Given the description of an element on the screen output the (x, y) to click on. 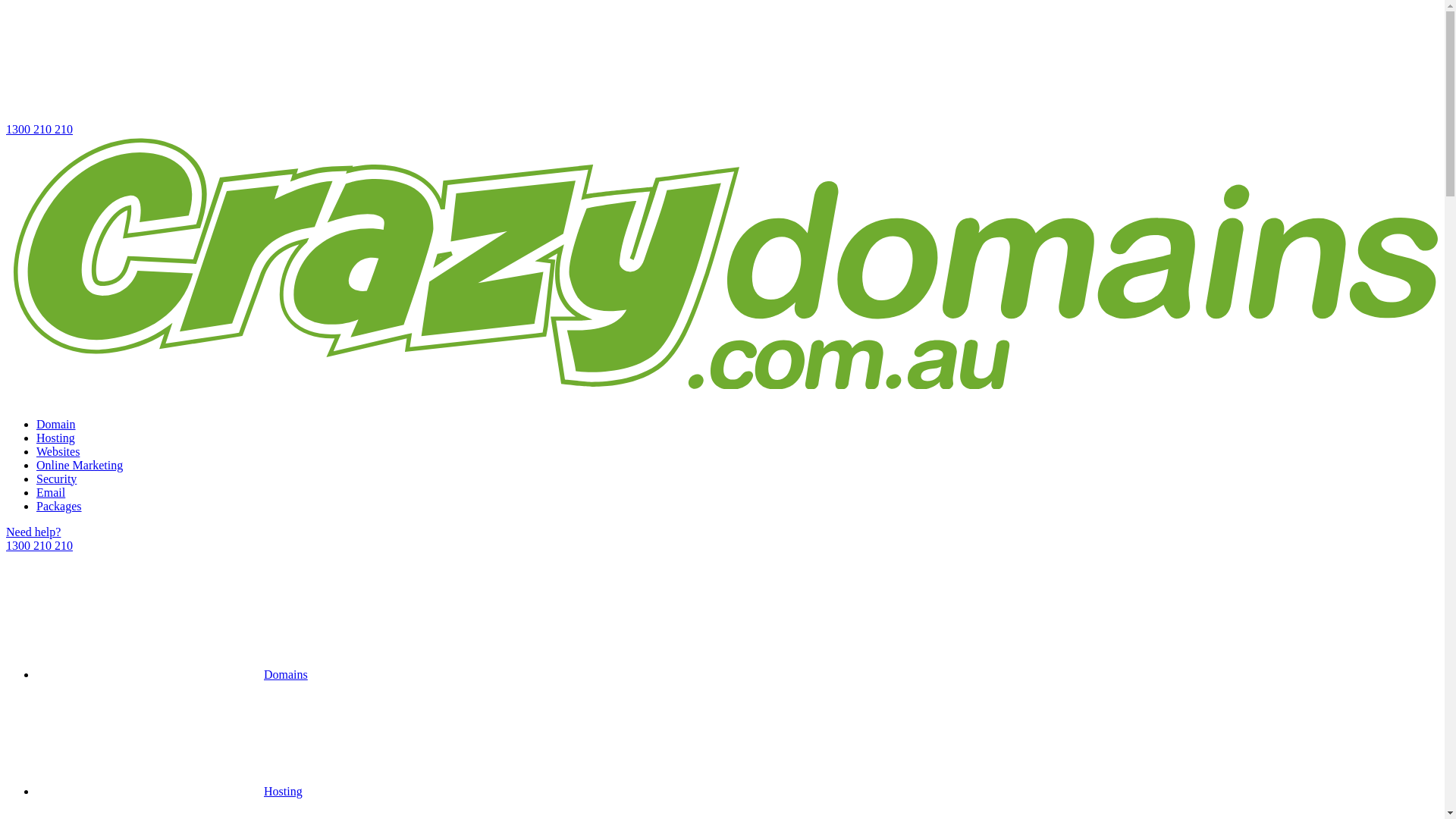
Websites Element type: text (57, 451)
Email Element type: text (50, 492)
Hosting Element type: text (55, 437)
1300 210 210 Element type: text (722, 70)
Domains Element type: text (171, 674)
Security Element type: text (56, 478)
Packages Element type: text (58, 505)
Need help?
1300 210 210 Element type: text (722, 538)
Online Marketing Element type: text (79, 464)
Hosting Element type: text (169, 790)
Domain Element type: text (55, 423)
